Given the description of an element on the screen output the (x, y) to click on. 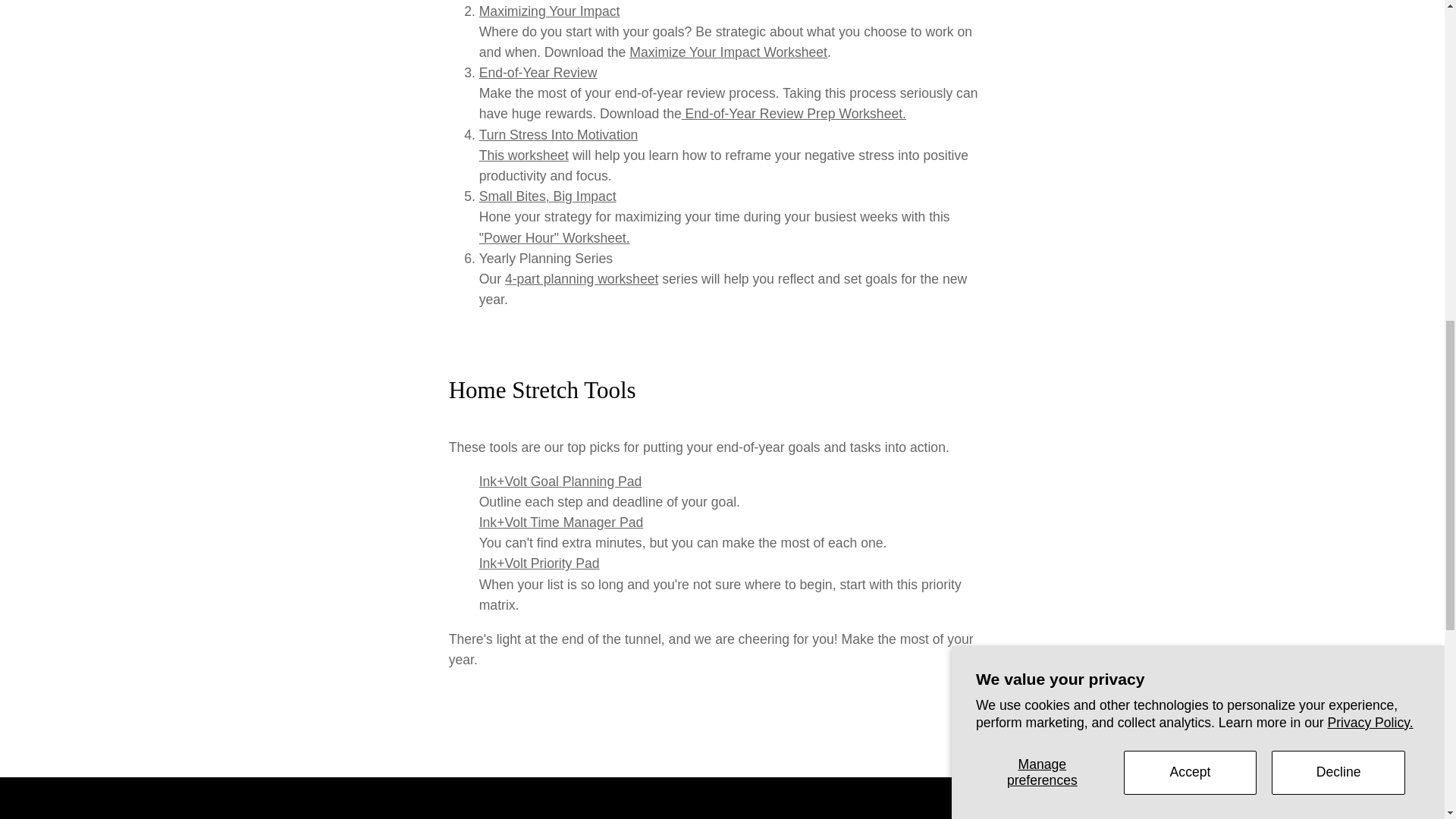
"Power Hour" home stretch worksheet (554, 237)
goal planning notepad (560, 481)
maximize your impact email  (549, 10)
turn stress into motivation worksheet (559, 134)
end of year review prep  (793, 113)
priority notepad (539, 563)
end of year review email  (537, 72)
time management notepad (561, 522)
yearly planning series worksheets (581, 278)
maximize your impact worksheet (727, 52)
